Given the description of an element on the screen output the (x, y) to click on. 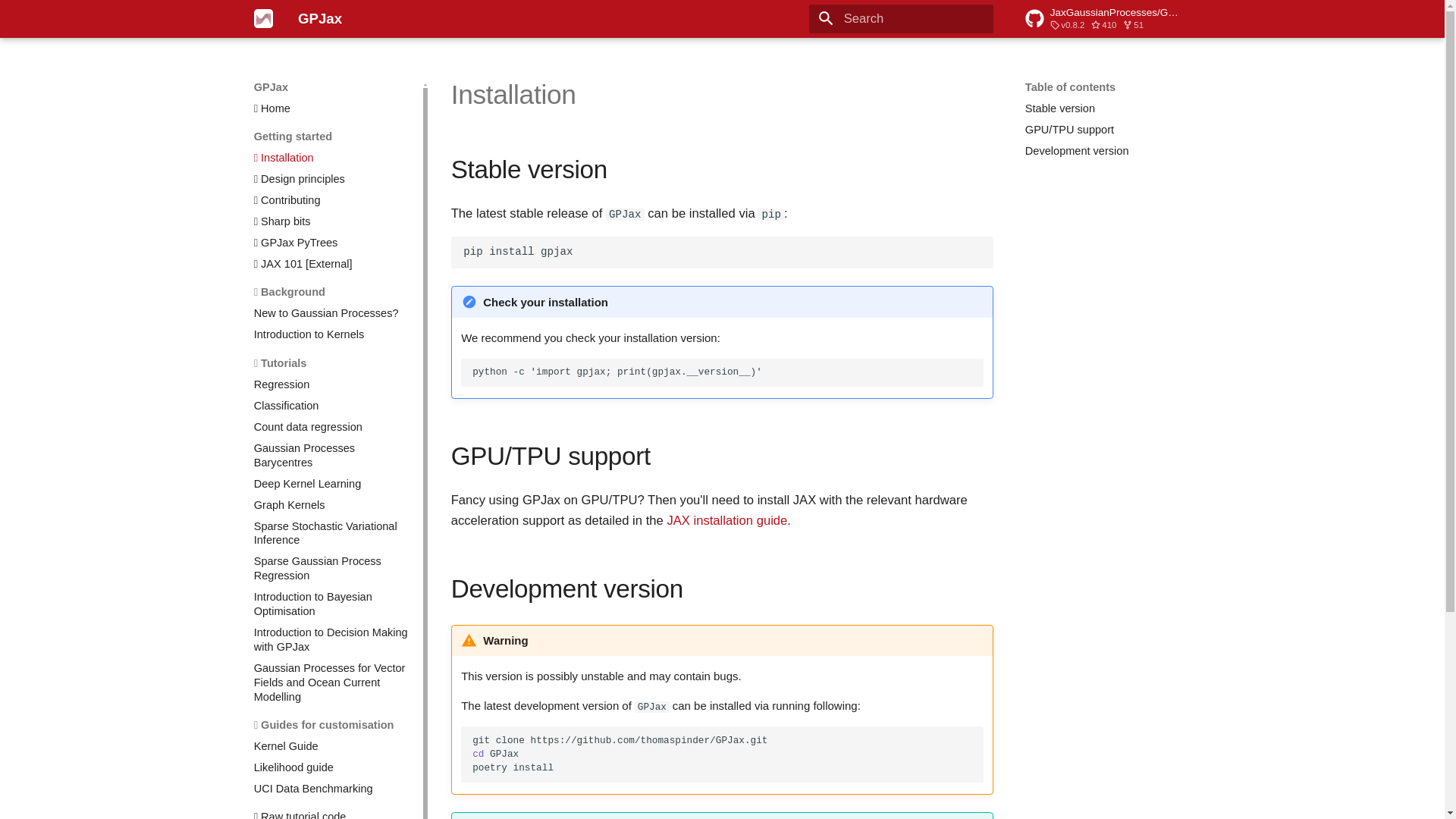
Regression (332, 384)
Likelihood guide (332, 767)
Introduction to Kernels (332, 334)
Classification (332, 405)
Introduction to Bayesian Optimisation (332, 604)
Gaussian Processes Barycentres (332, 455)
Sparse Gaussian Process Regression (332, 568)
Count data regression (332, 427)
New to Gaussian Processes? (332, 313)
UCI Data Benchmarking (332, 789)
